Given the description of an element on the screen output the (x, y) to click on. 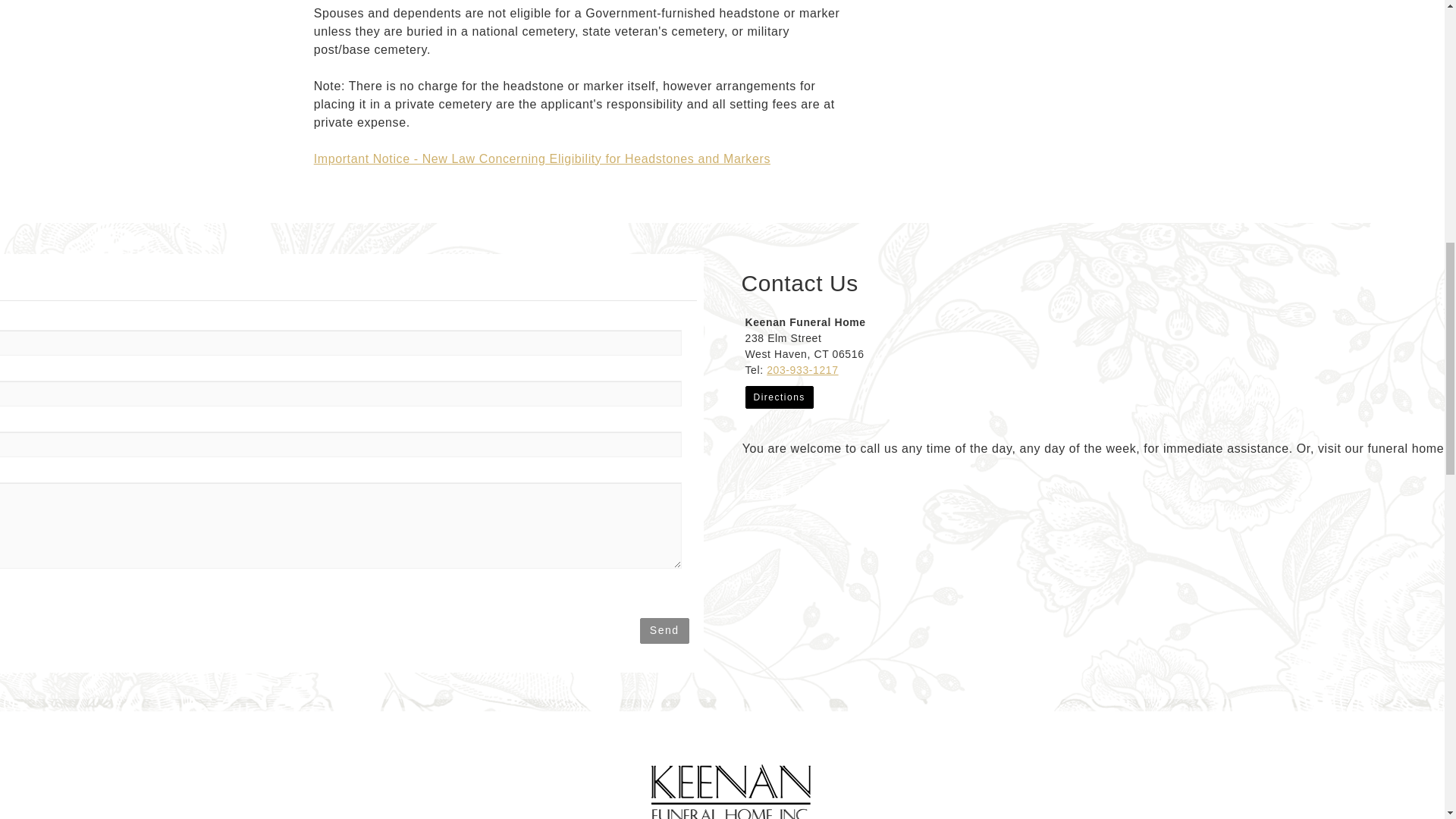
Send Flowers (750, 488)
Send (664, 630)
203-933-1217 (802, 369)
Directions (778, 396)
Directions (778, 396)
Contact Us (778, 488)
